Given the description of an element on the screen output the (x, y) to click on. 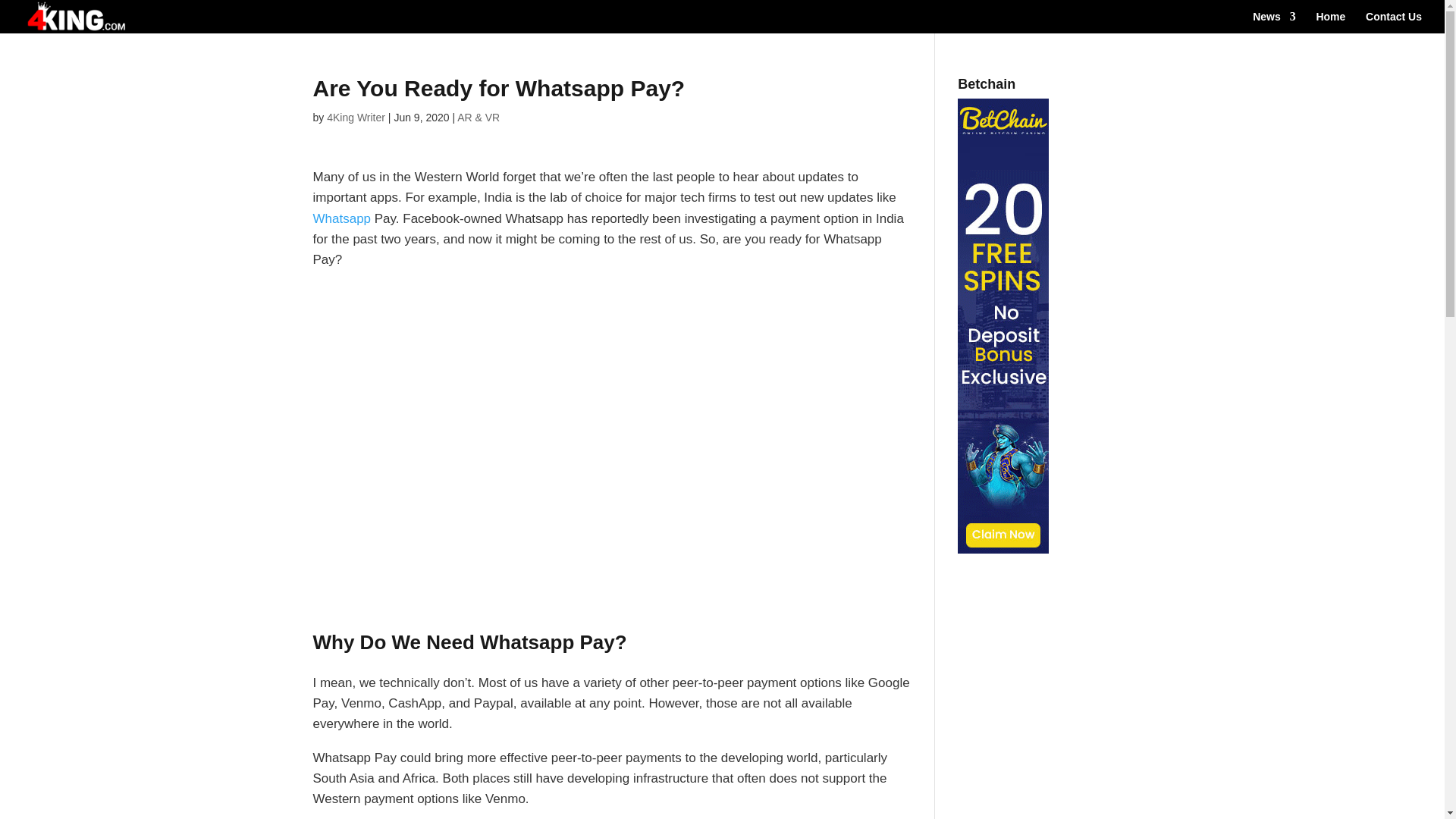
Whatsapp (342, 218)
Contact Us (1393, 22)
Posts by 4King Writer (355, 117)
4King Writer (355, 117)
News (1273, 22)
Home (1330, 22)
